Given the description of an element on the screen output the (x, y) to click on. 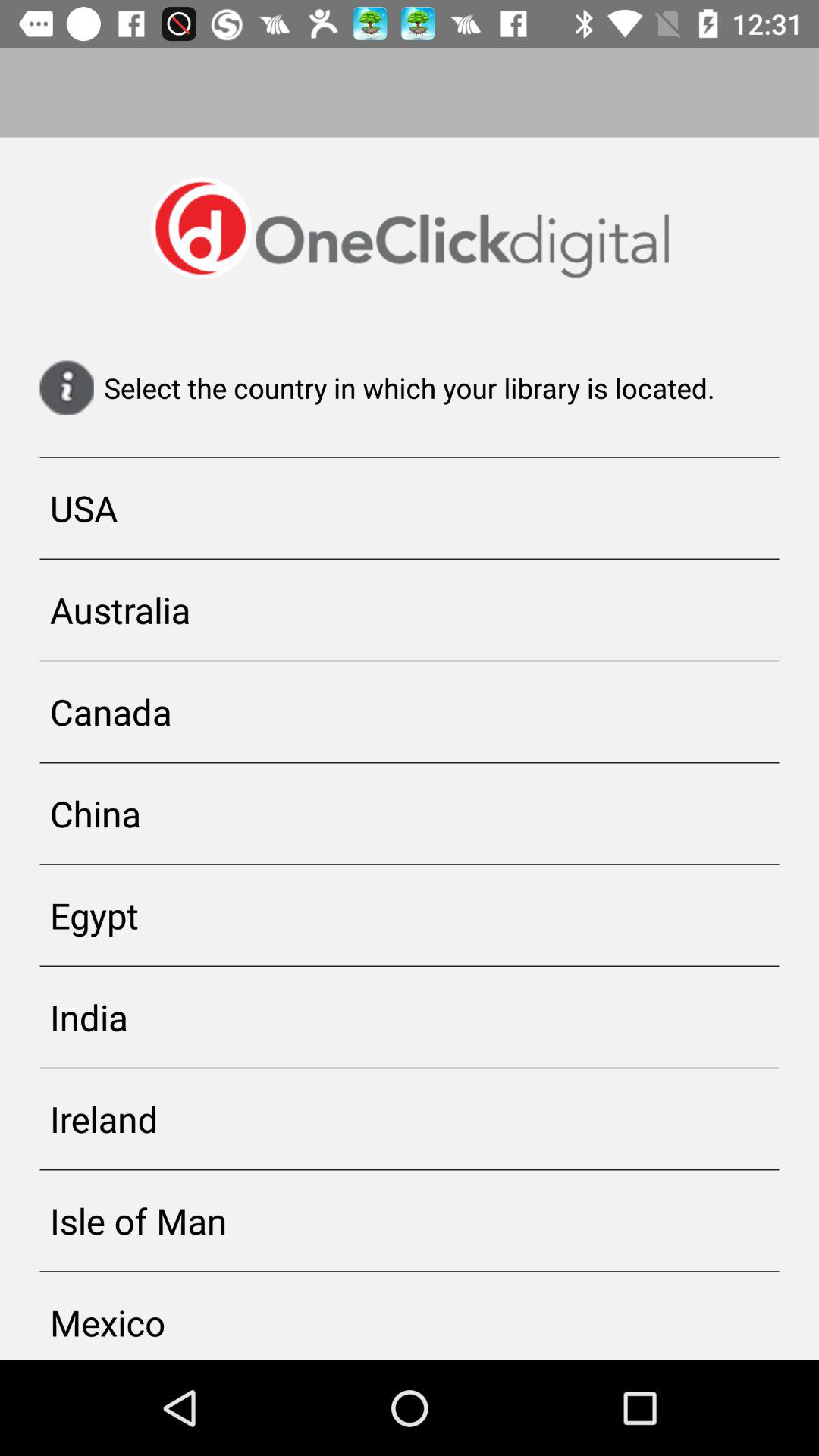
flip until the australia (409, 609)
